Given the description of an element on the screen output the (x, y) to click on. 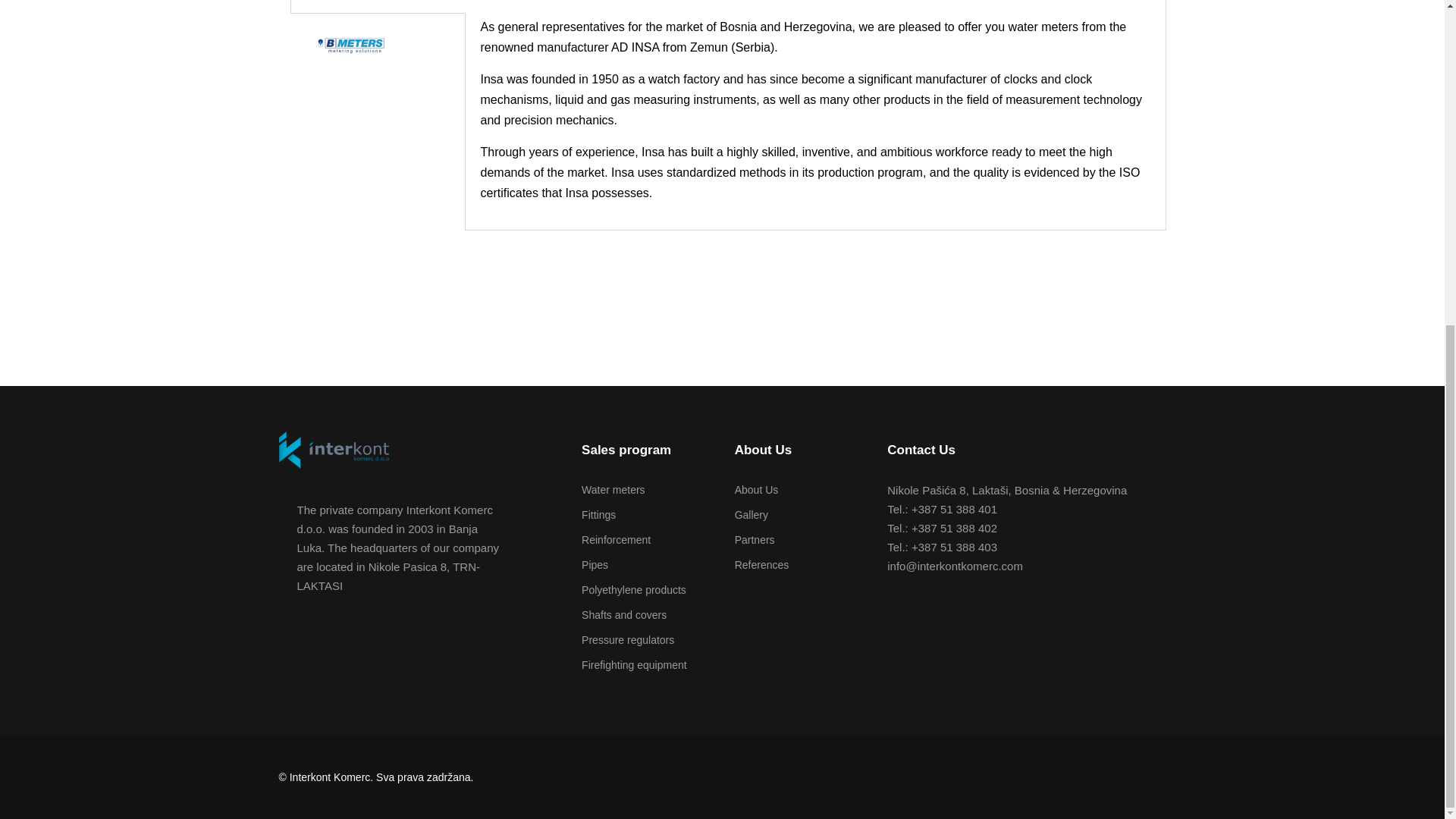
Pressure regulators (627, 639)
Water meters (612, 490)
References (762, 564)
Firefighting equipment (633, 664)
Partners (754, 539)
About Us (756, 490)
Shafts and covers (623, 614)
Pipes (594, 564)
Fittings (597, 514)
Polyethylene products (632, 589)
Gallery (751, 514)
Reinforcement (615, 539)
